Given the description of an element on the screen output the (x, y) to click on. 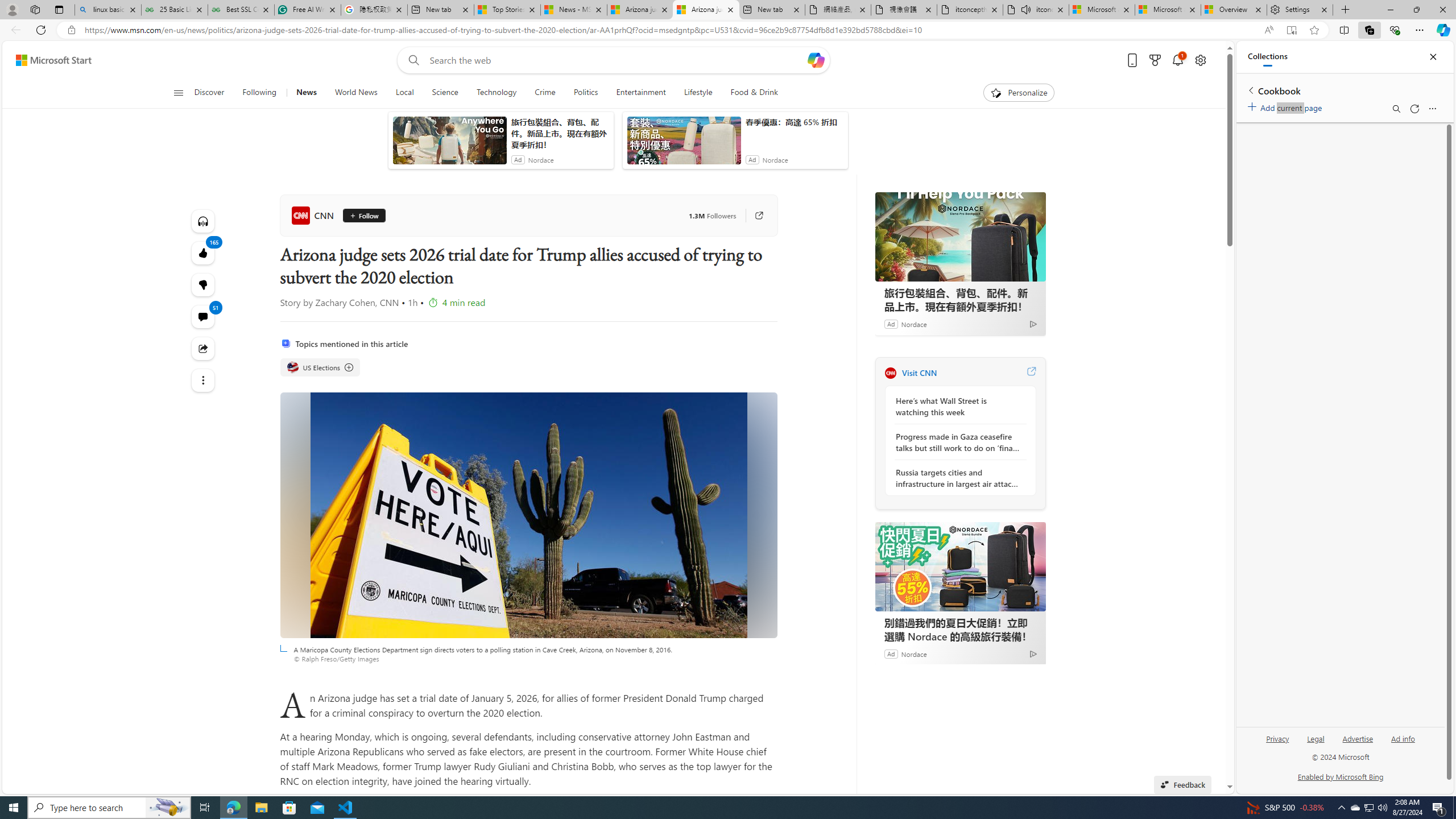
Listen to this article (202, 220)
Food & Drink (753, 92)
Best SSL Certificates Provider in India - GeeksforGeeks (240, 9)
US Elections US Elections US Elections (319, 367)
Back to list of collections (1250, 90)
